Given the description of an element on the screen output the (x, y) to click on. 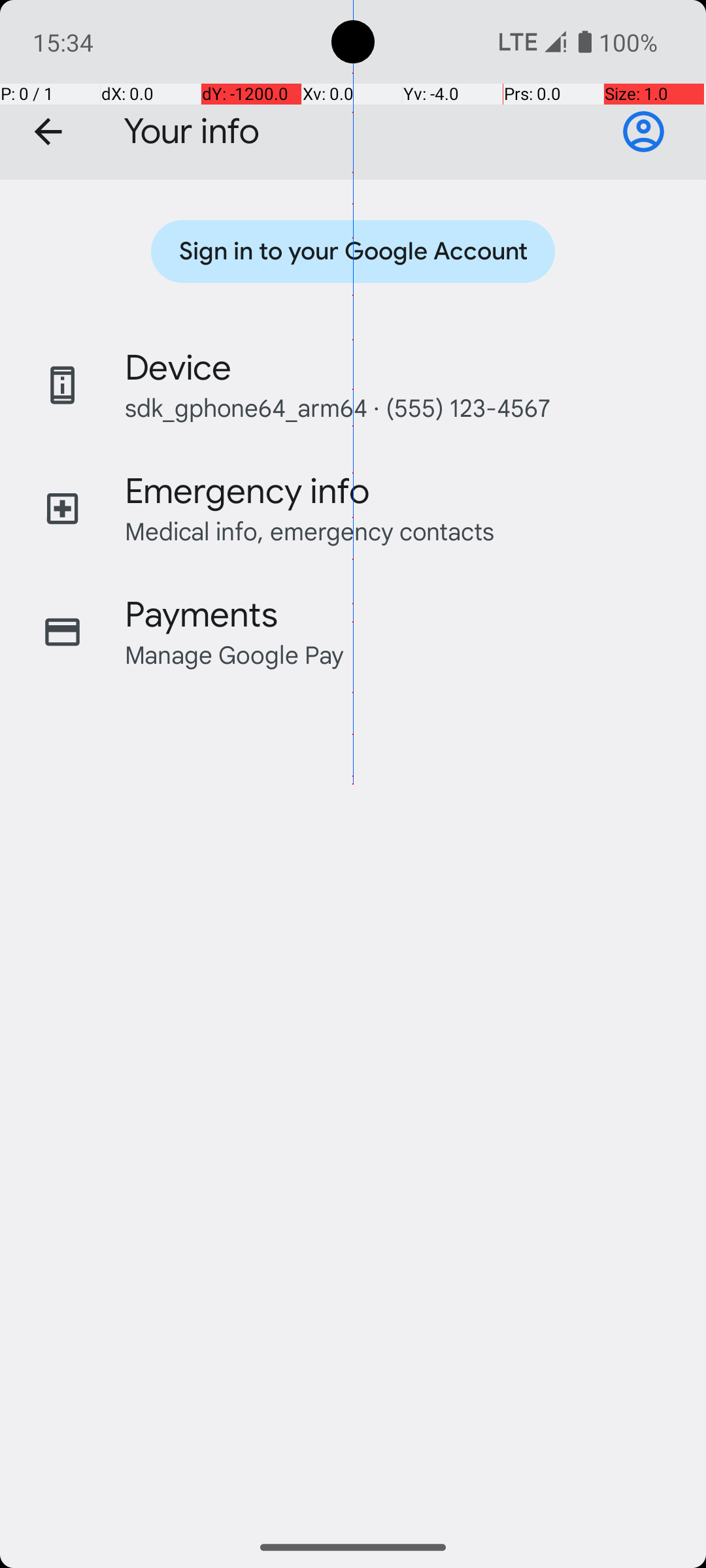
Sign in to your Google Account Element type: android.widget.FrameLayout (643, 131)
sdk_gphone64_arm64 · (555) 123-4567 Element type: android.widget.TextView (337, 407)
Emergency info Element type: android.widget.TextView (246, 491)
Medical info, emergency contacts Element type: android.widget.TextView (309, 530)
Payments Element type: android.widget.TextView (200, 614)
Manage Google Pay Element type: android.widget.TextView (234, 654)
